Given the description of an element on the screen output the (x, y) to click on. 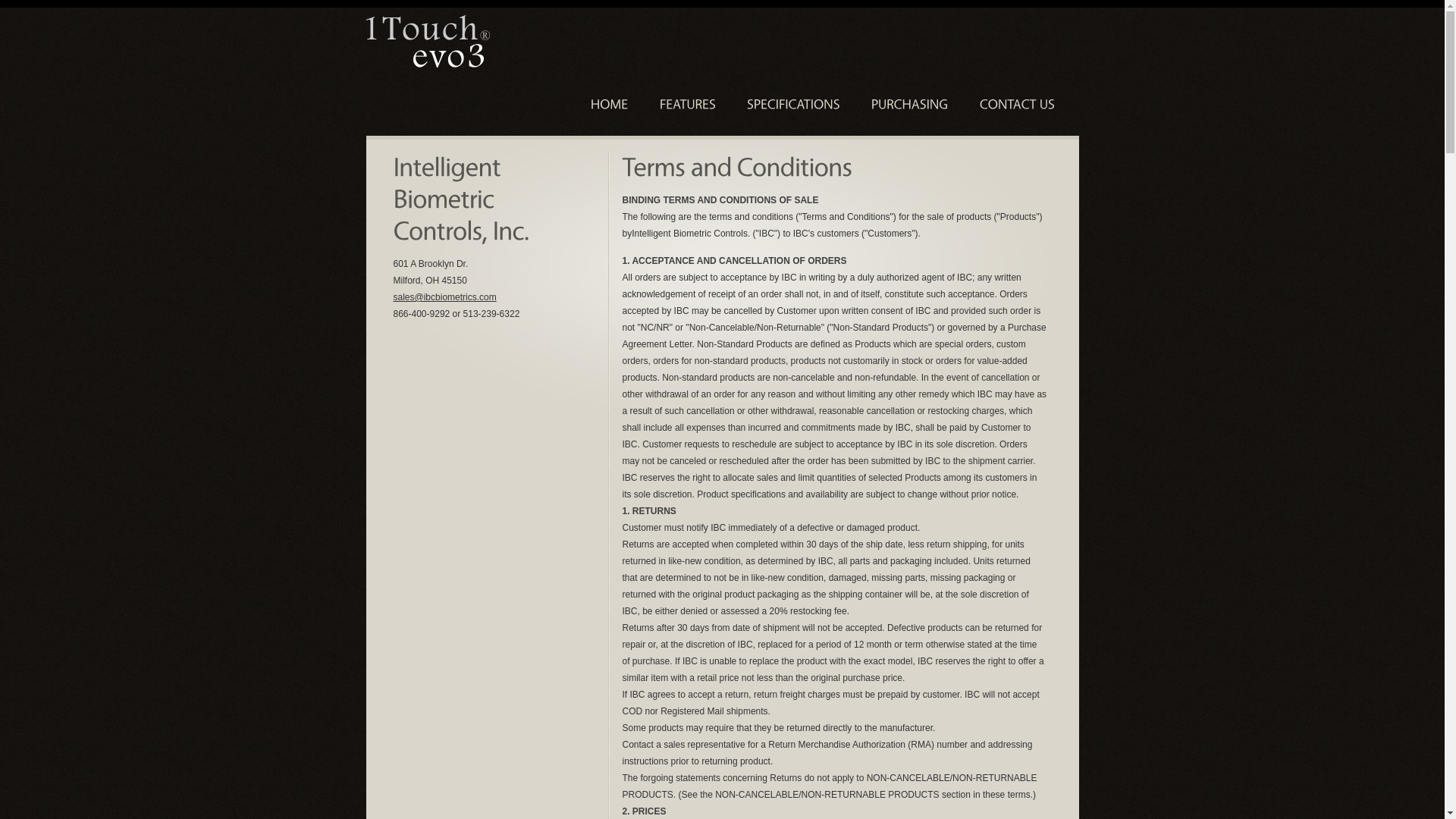
sales@ibcbiometrics.com Element type: text (443, 296)
